Given the description of an element on the screen output the (x, y) to click on. 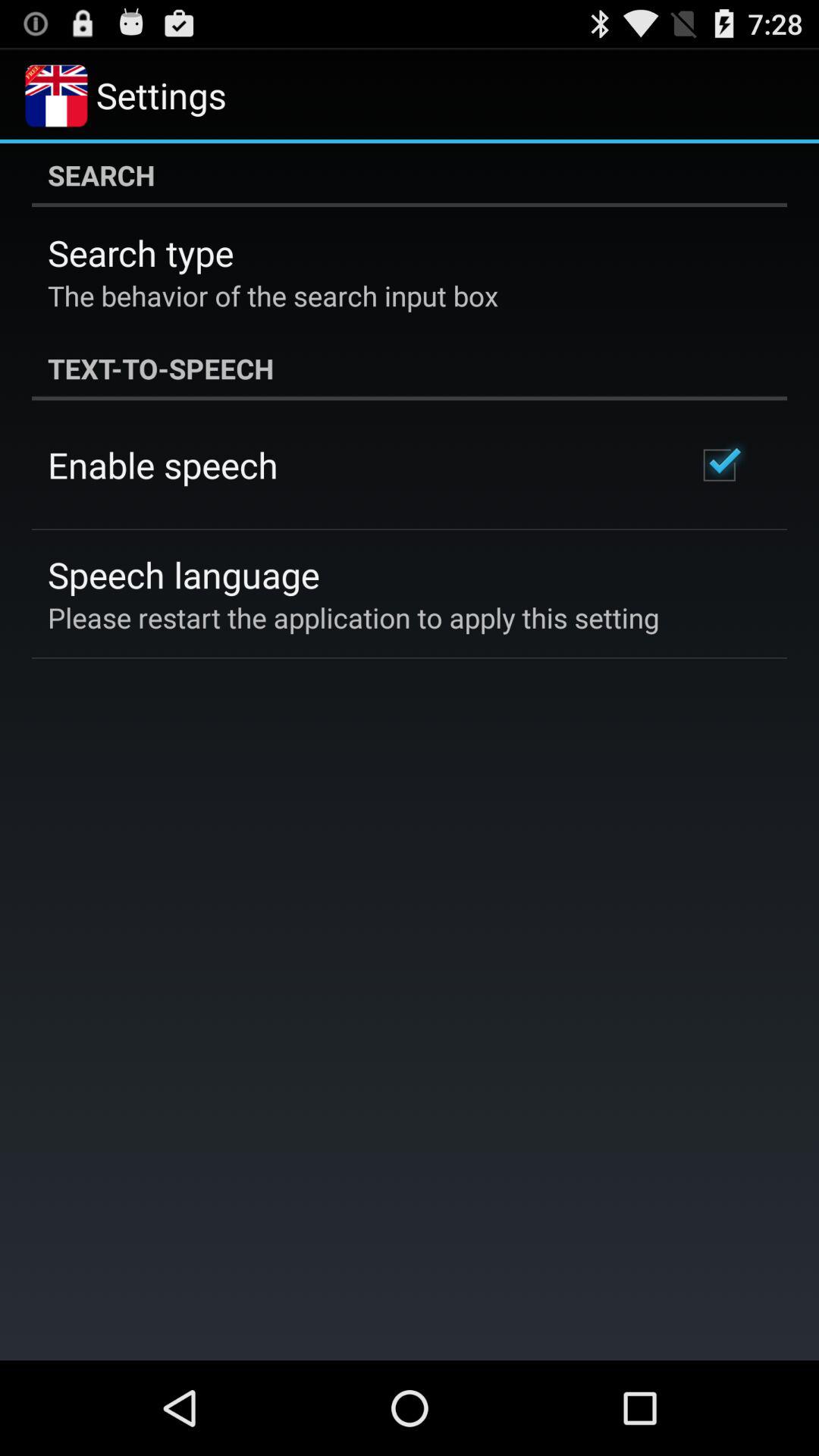
open the icon below the enable speech (183, 574)
